Given the description of an element on the screen output the (x, y) to click on. 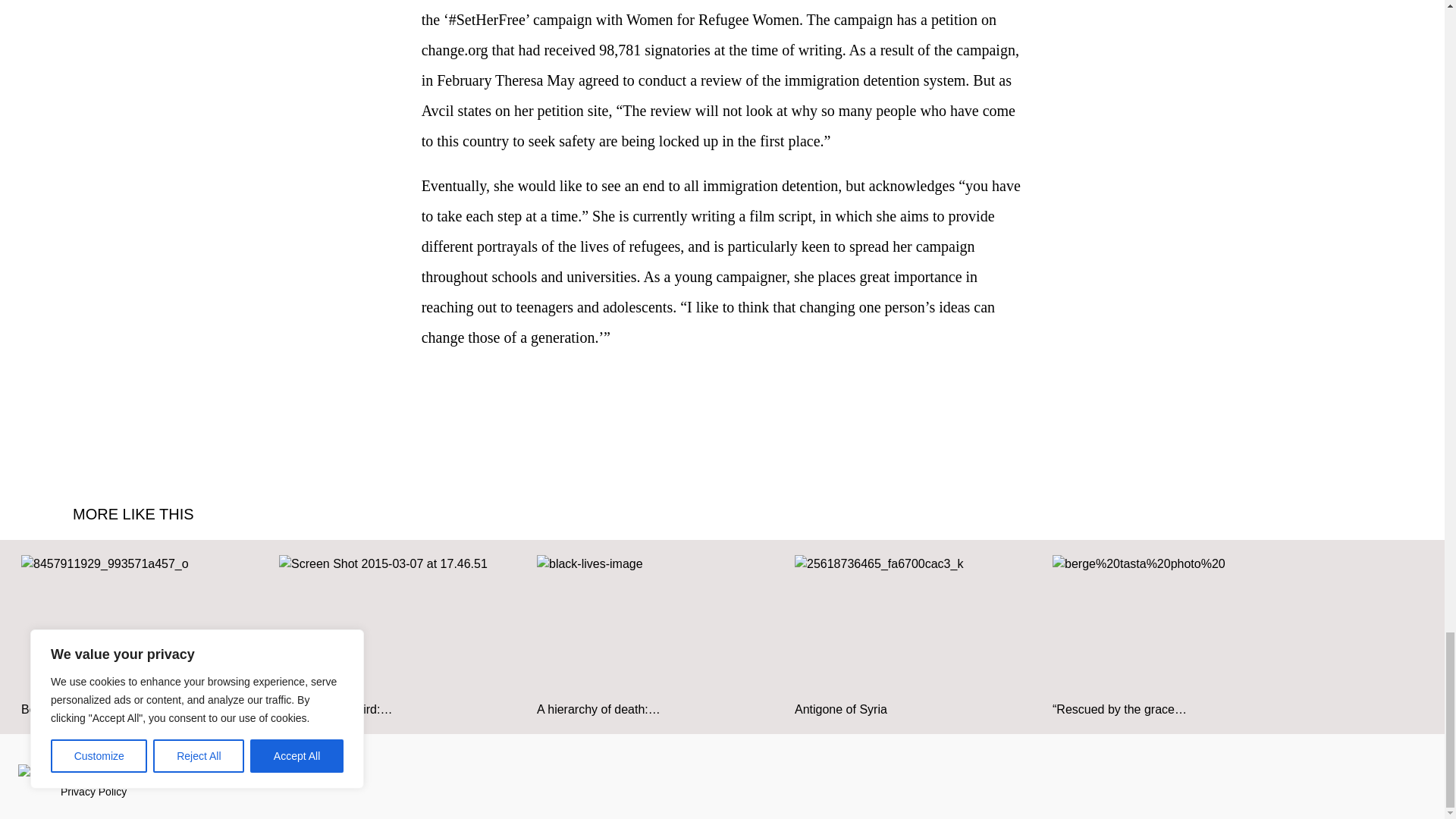
Antigone of Syria (915, 635)
Antigone of Syria (915, 628)
Privacy Policy (93, 791)
